Given the description of an element on the screen output the (x, y) to click on. 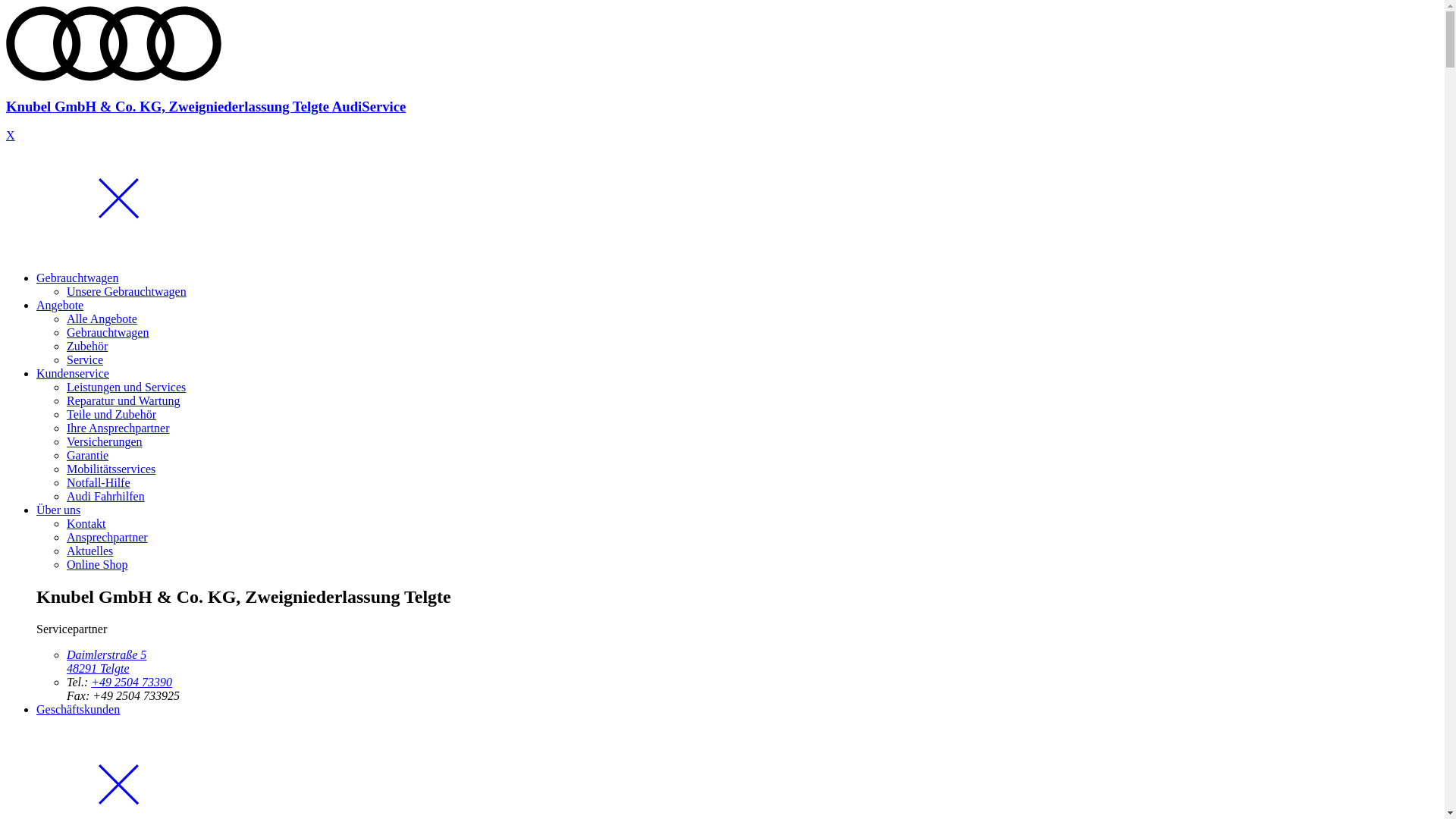
Reparatur und Wartung Element type: text (122, 400)
X Element type: text (10, 134)
Kontakt Element type: text (86, 523)
Kundenservice Element type: text (72, 373)
Gebrauchtwagen Element type: text (107, 332)
Ansprechpartner Element type: text (106, 536)
Ihre Ansprechpartner Element type: text (117, 427)
Gebrauchtwagen Element type: text (77, 277)
Knubel GmbH & Co. KG, Zweigniederlassung Telgte AudiService Element type: text (722, 92)
Unsere Gebrauchtwagen Element type: text (126, 291)
Audi Fahrhilfen Element type: text (105, 495)
Notfall-Hilfe Element type: text (98, 482)
Garantie Element type: text (87, 454)
Alle Angebote Element type: text (101, 318)
Angebote Element type: text (59, 304)
+49 2504 73390 Element type: text (131, 681)
Service Element type: text (84, 359)
Aktuelles Element type: text (89, 550)
Leistungen und Services Element type: text (125, 386)
Online Shop Element type: text (96, 564)
Versicherungen Element type: text (104, 441)
